Given the description of an element on the screen output the (x, y) to click on. 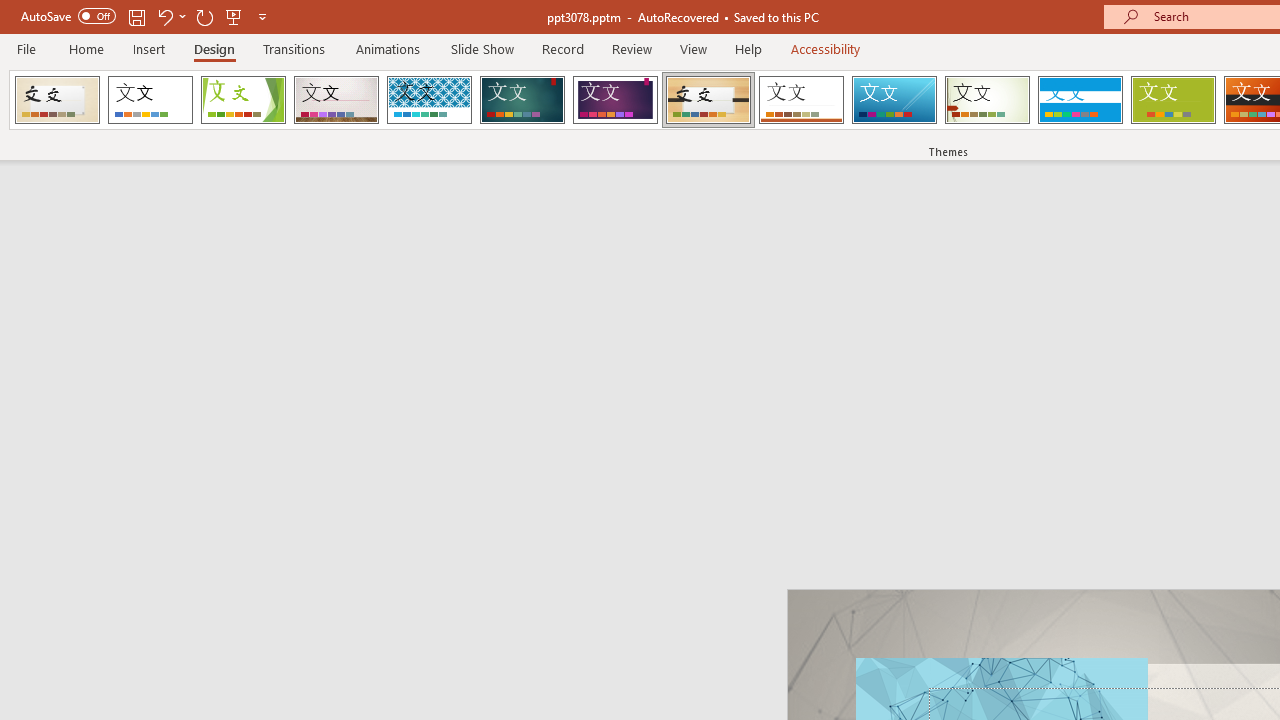
Facet (243, 100)
Integral (429, 100)
Gallery (336, 100)
Retrospect (801, 100)
